Given the description of an element on the screen output the (x, y) to click on. 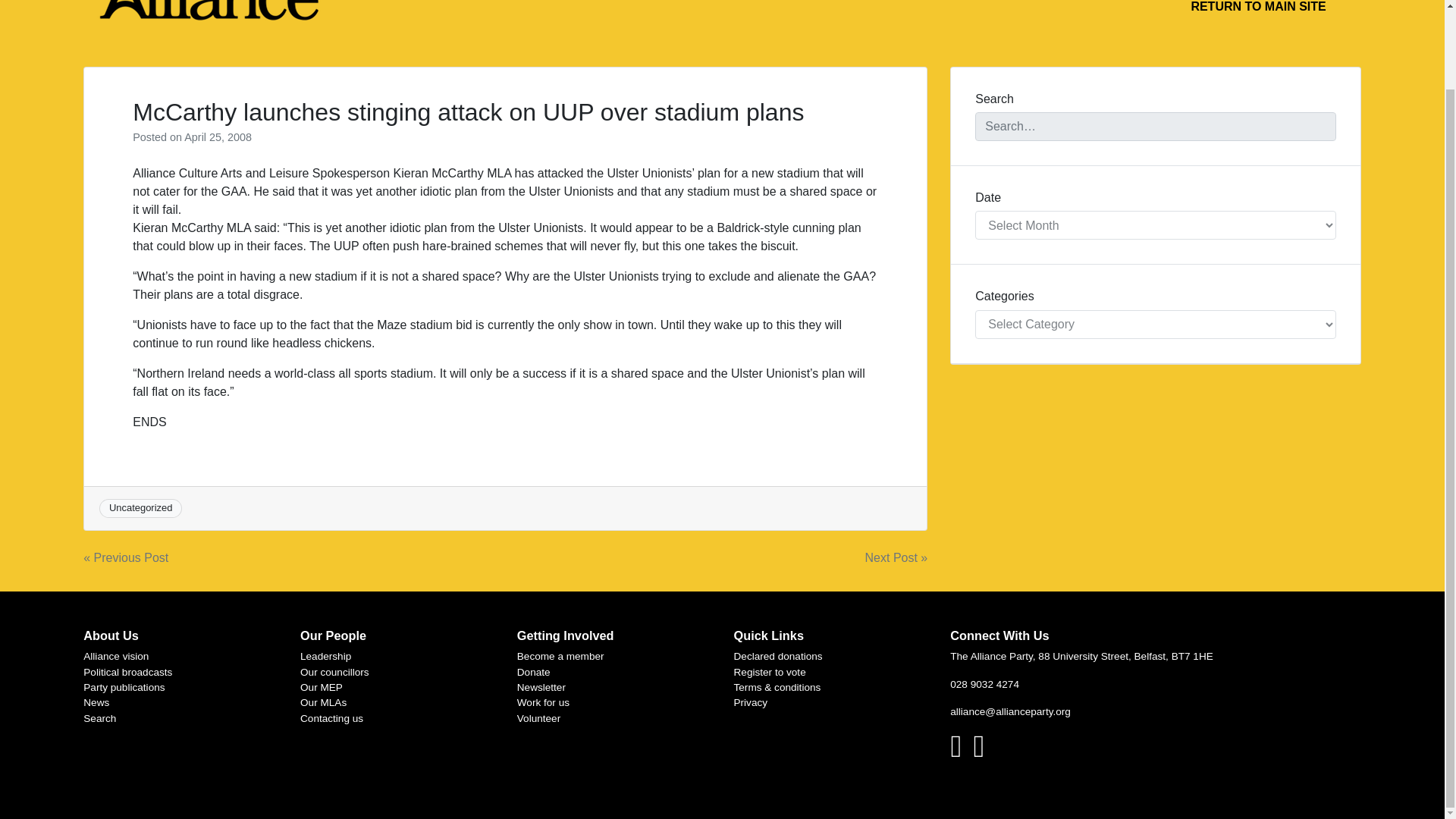
Become a member (560, 655)
Party publications (123, 686)
Work for us (542, 702)
Contacting us (330, 717)
Our MLAs (322, 702)
Political broadcasts (126, 672)
Declared donations (777, 655)
Newsletter (541, 686)
028 9032 4274 (984, 684)
Our councillors (334, 672)
April 25, 2008 (217, 137)
News (95, 702)
Volunteer (538, 717)
RETURN TO MAIN SITE (1257, 11)
Donate (533, 672)
